Given the description of an element on the screen output the (x, y) to click on. 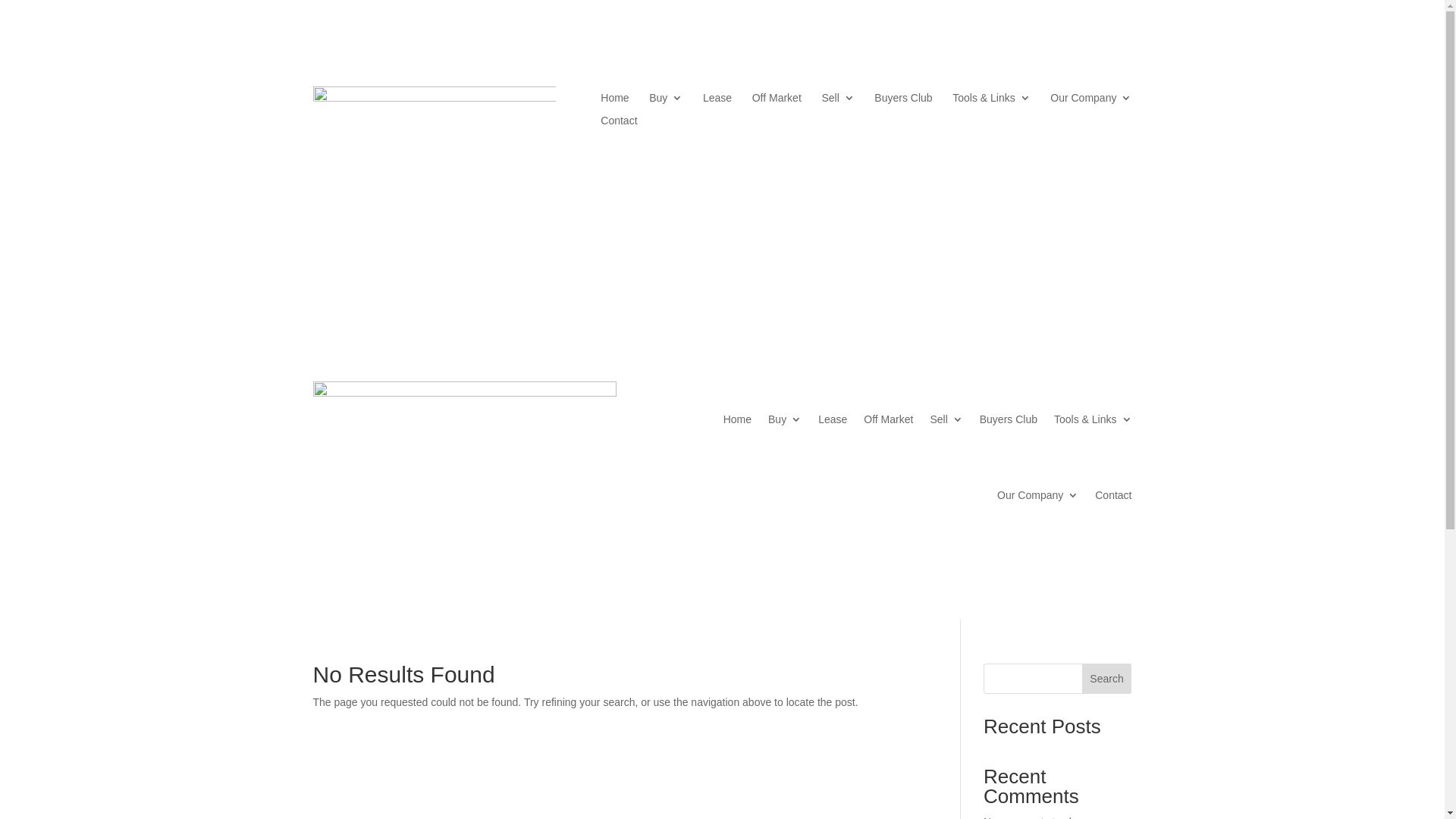
Home Element type: text (614, 100)
Lease Element type: text (716, 100)
Tools & Links Element type: text (990, 100)
Off Market Element type: text (888, 419)
Off Market Group web Element type: hover (433, 146)
Sell Element type: text (945, 419)
Buyers Club Element type: text (1008, 419)
Search Element type: text (1107, 678)
Sell Element type: text (837, 100)
Our Company Element type: text (1037, 495)
Contact Element type: text (1113, 495)
Buy Element type: text (665, 100)
Contact Element type: text (618, 123)
Home Element type: text (737, 419)
Buy Element type: text (784, 419)
Our Company Element type: text (1090, 100)
Lease Element type: text (832, 419)
Buyers Club Element type: text (902, 100)
Tools & Links Element type: text (1092, 419)
Off Market Element type: text (776, 100)
